Given the description of an element on the screen output the (x, y) to click on. 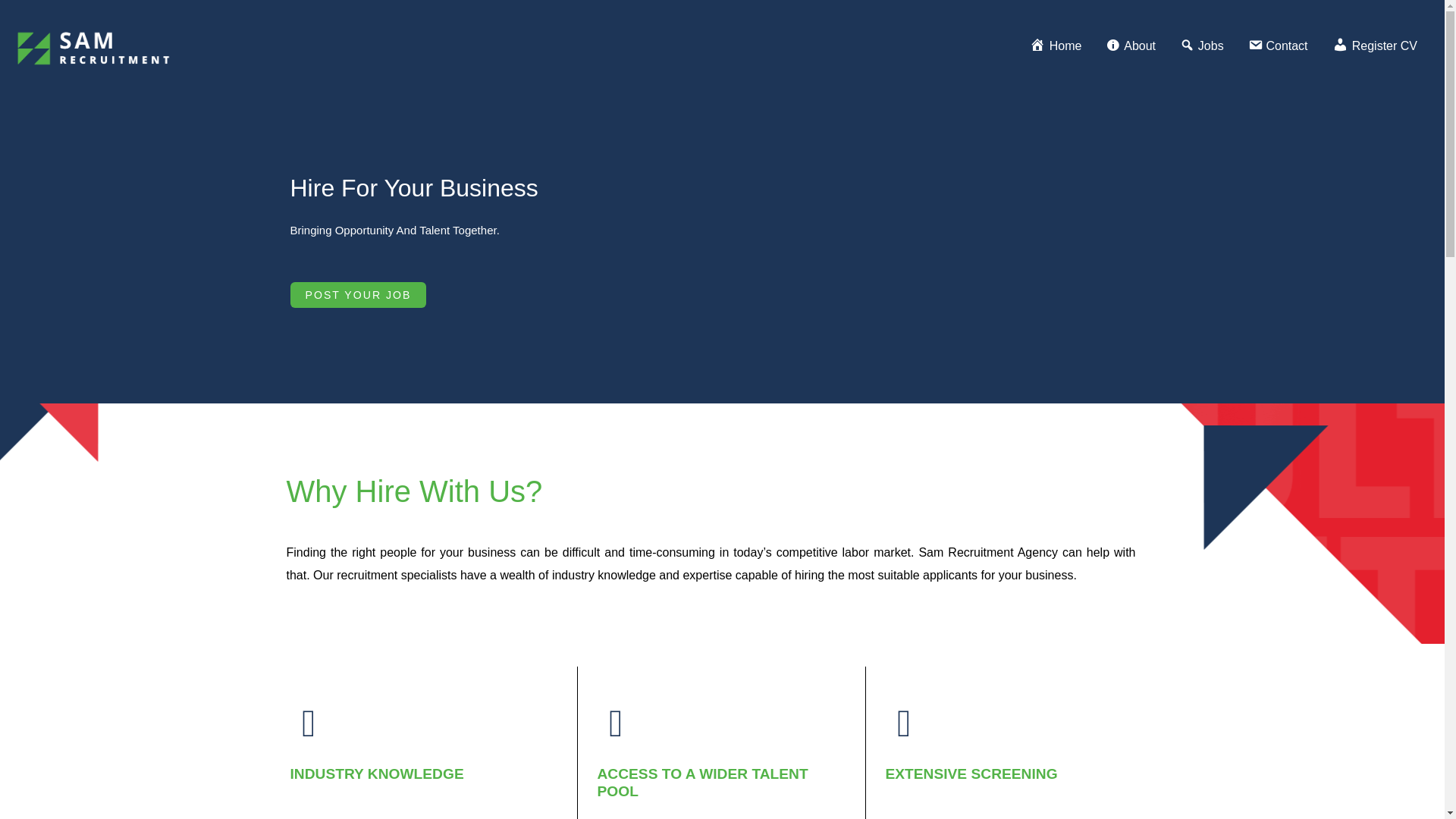
Contact (1278, 46)
POST YOUR JOB (357, 294)
Register CV (1374, 46)
